Given the description of an element on the screen output the (x, y) to click on. 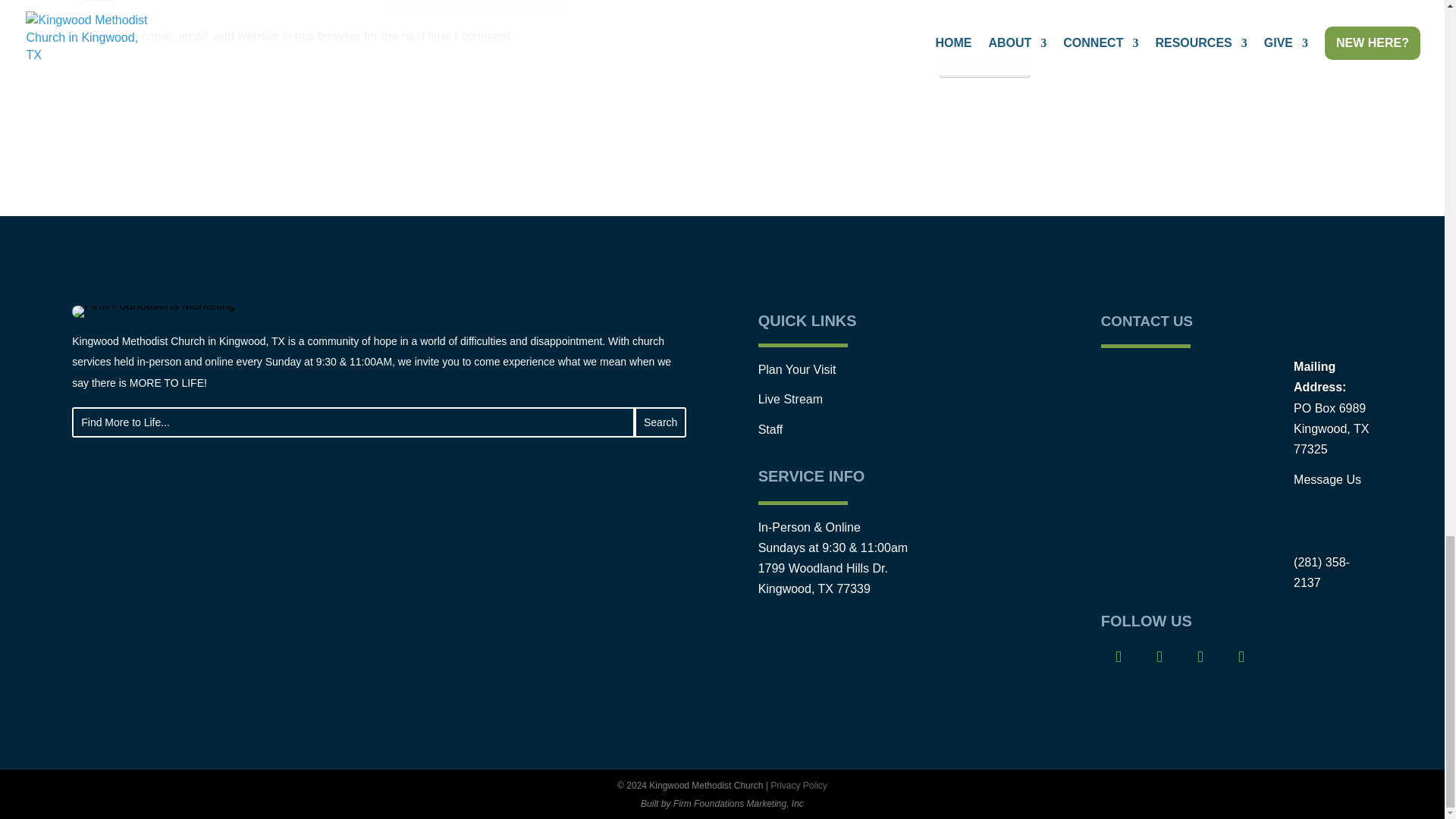
Search (659, 422)
Follow on Spotify (1241, 656)
Follow on Facebook (1117, 656)
Follow on Instagram (1158, 656)
yes (79, 35)
Search (659, 422)
Submit Comment (984, 69)
Follow on Youtube (1199, 656)
